Given the description of an element on the screen output the (x, y) to click on. 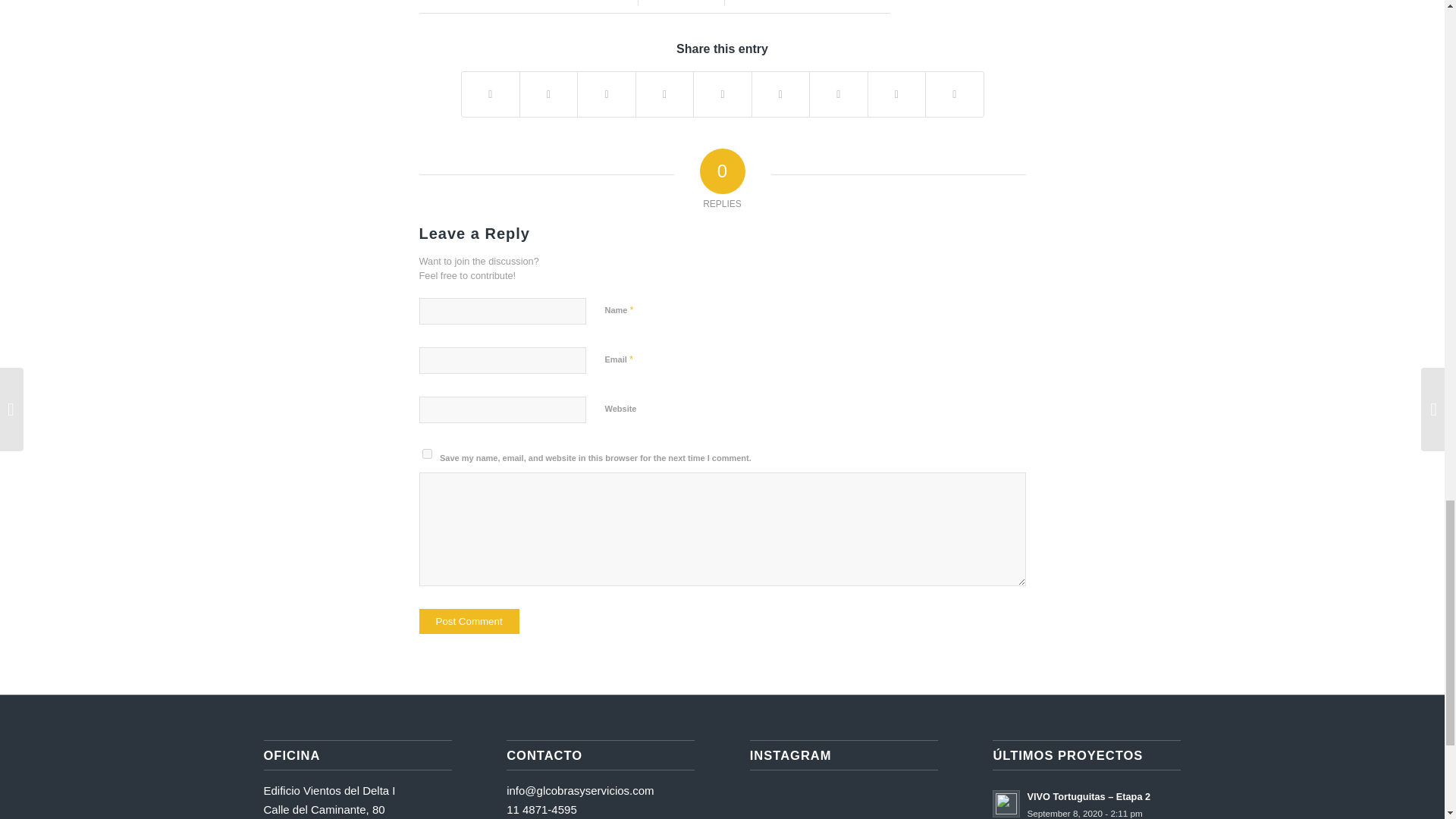
Post Comment (468, 621)
Post Comment (468, 621)
yes (426, 453)
